Given the description of an element on the screen output the (x, y) to click on. 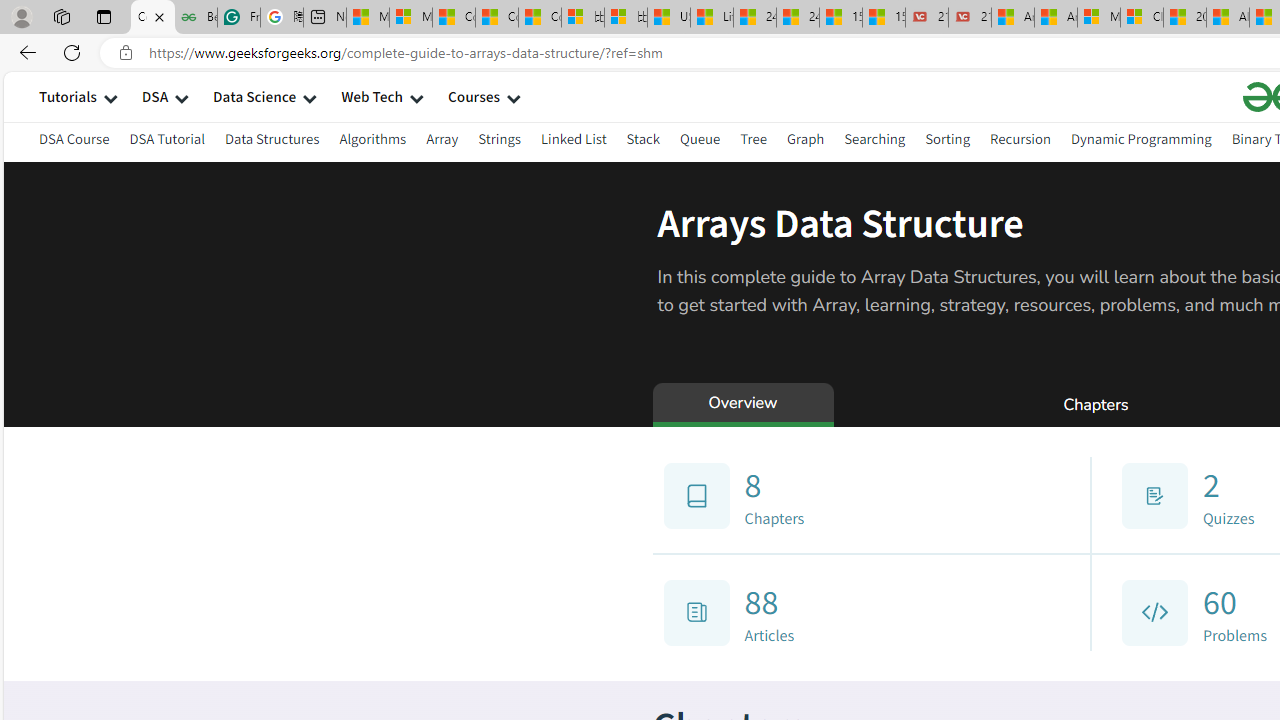
Recursion (1020, 138)
